Given the description of an element on the screen output the (x, y) to click on. 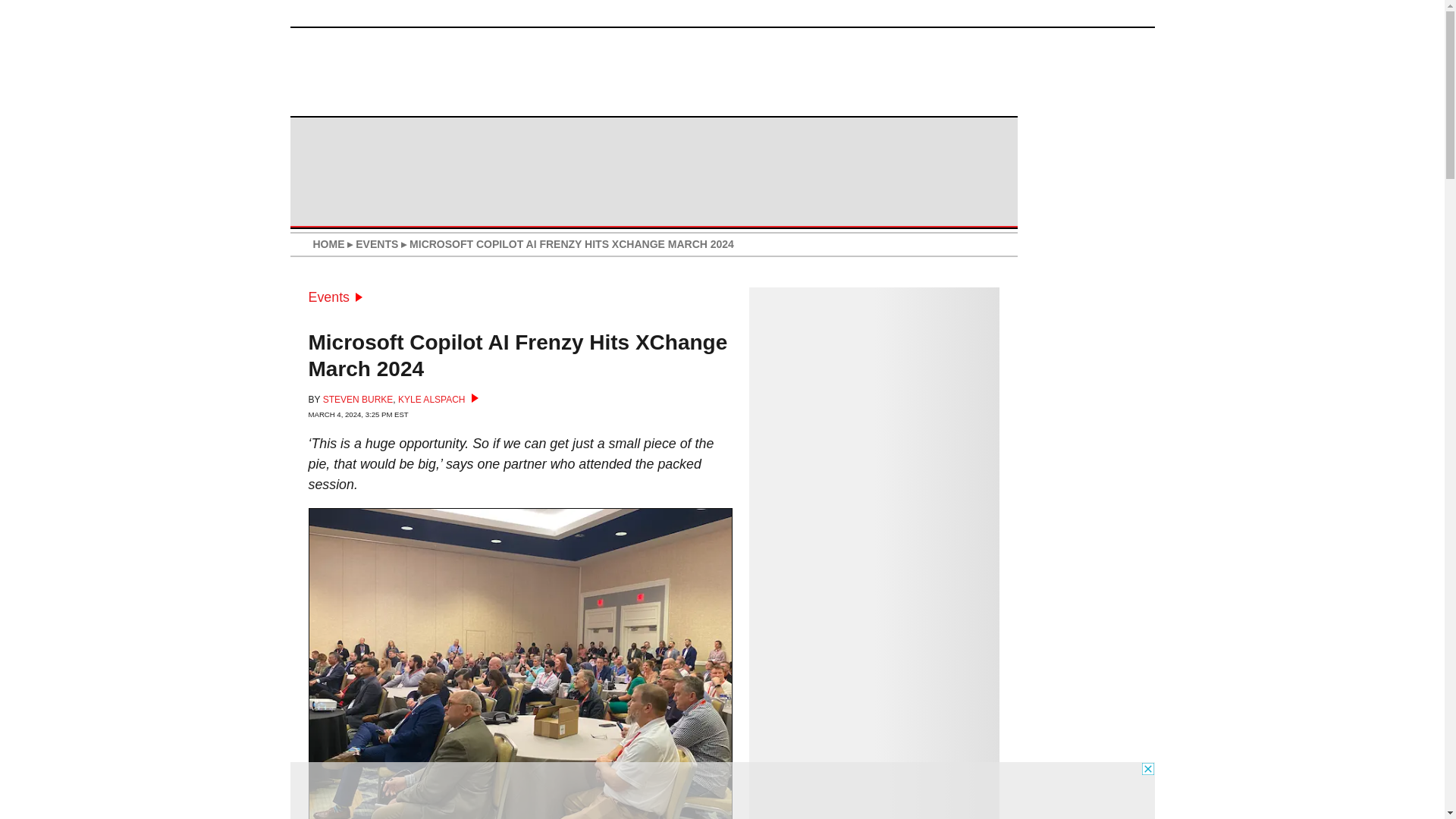
KYLE ALSPACH (438, 398)
HOME (328, 244)
STEVEN BURKE (358, 398)
Events (334, 296)
Events (334, 296)
